Given the description of an element on the screen output the (x, y) to click on. 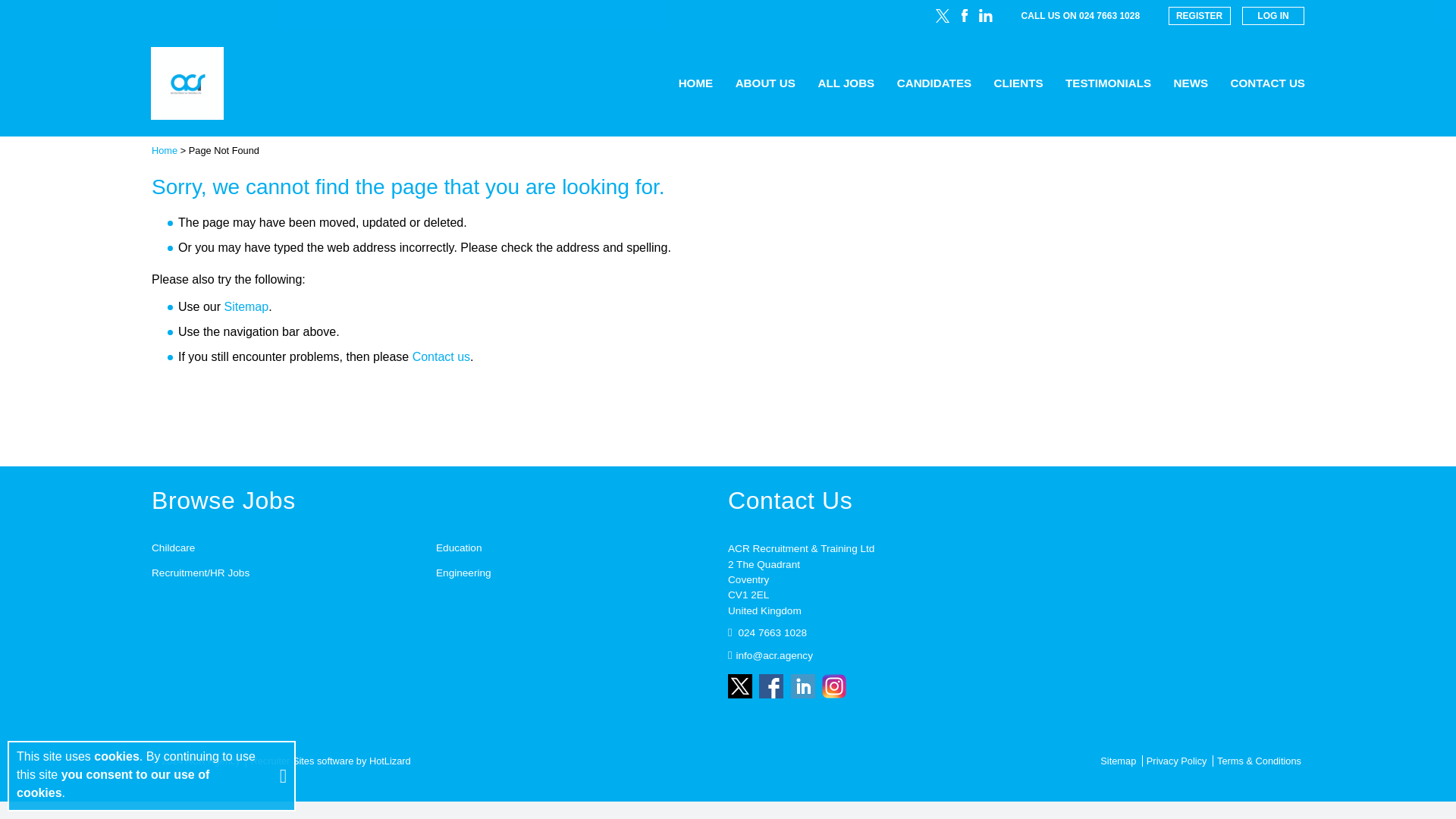
Engineering (463, 572)
ALL JOBS (845, 83)
Sitemap (245, 306)
Follow us on Instagram (833, 686)
NEWS (1190, 83)
Home (164, 150)
Follow us on LinkedIn (802, 686)
ABOUT US (764, 83)
LOG IN (1272, 15)
FOLLOW US ON X (942, 15)
